Given the description of an element on the screen output the (x, y) to click on. 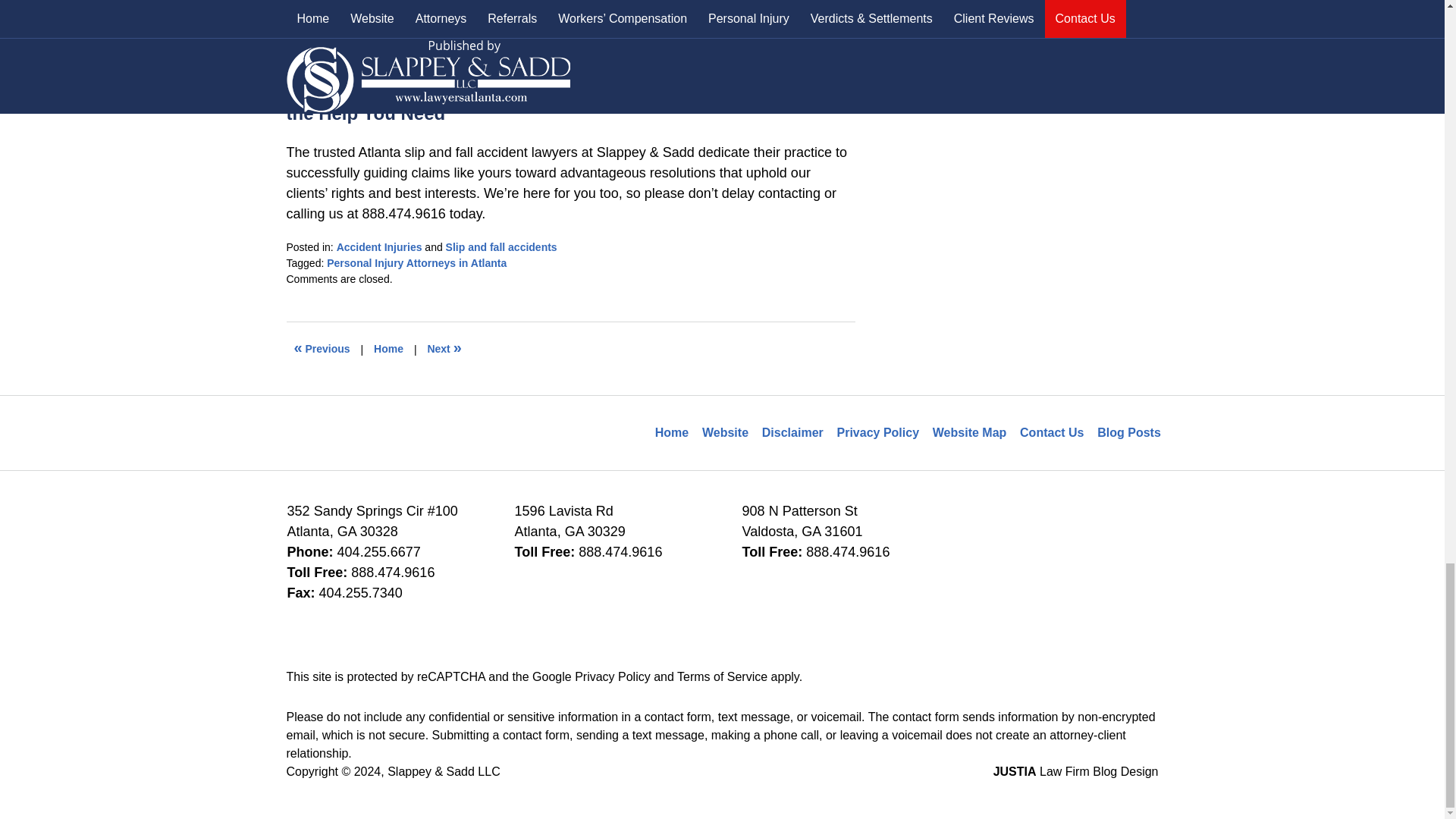
View all posts in Slip and fall accidents (501, 246)
Personal Injury Attorneys in Atlanta (416, 263)
View all posts in Accident Injuries (379, 246)
Accident Injuries (379, 246)
Is Retaining a Personal Injury Attorney Worth It? (322, 349)
Home (388, 349)
Slip and fall accidents (501, 246)
How Much Does a Personal Injury Lawyer Cost? (443, 349)
